Given the description of an element on the screen output the (x, y) to click on. 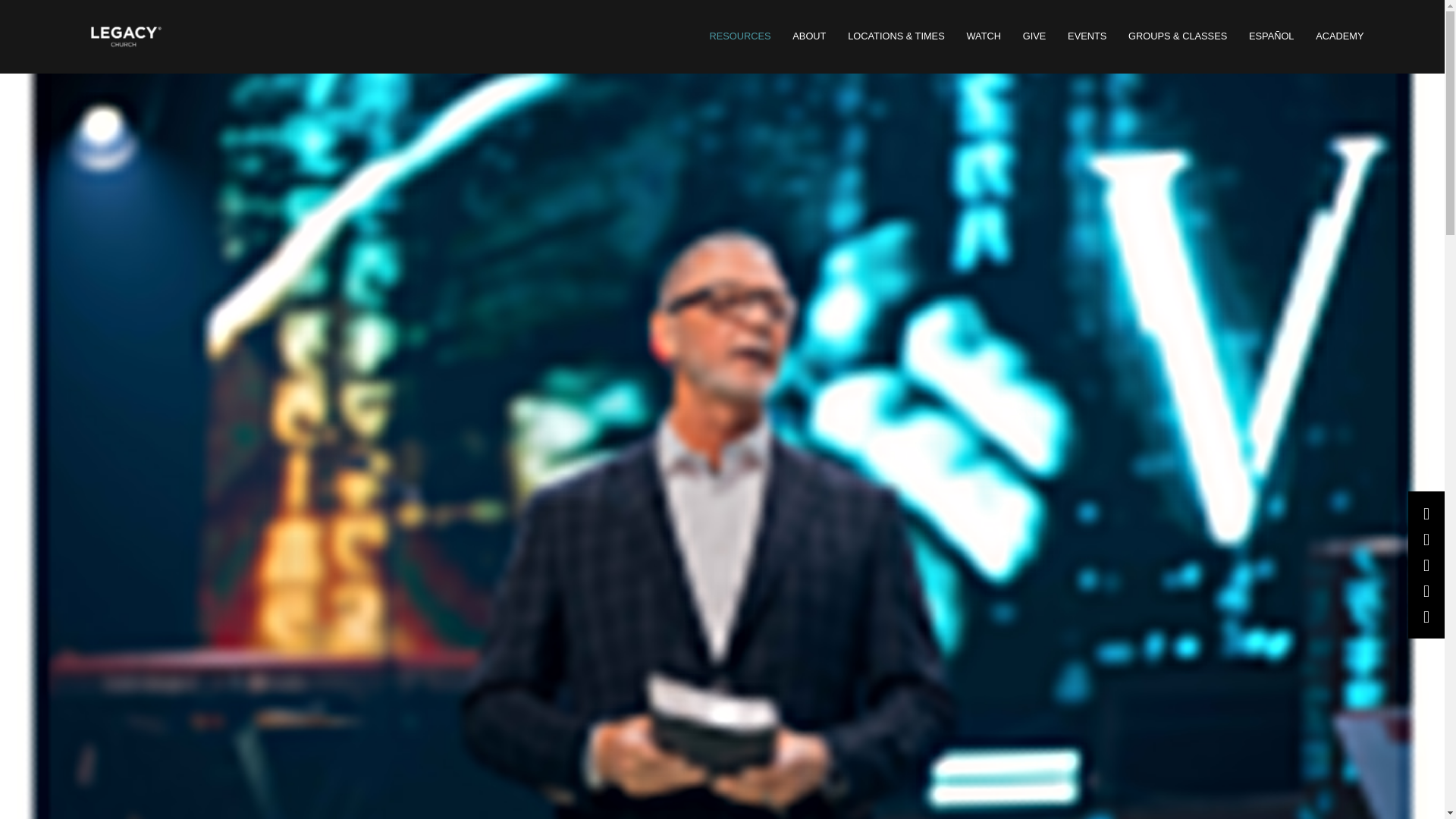
ABOUT (1011, 46)
RESOURCES (925, 46)
